Given the description of an element on the screen output the (x, y) to click on. 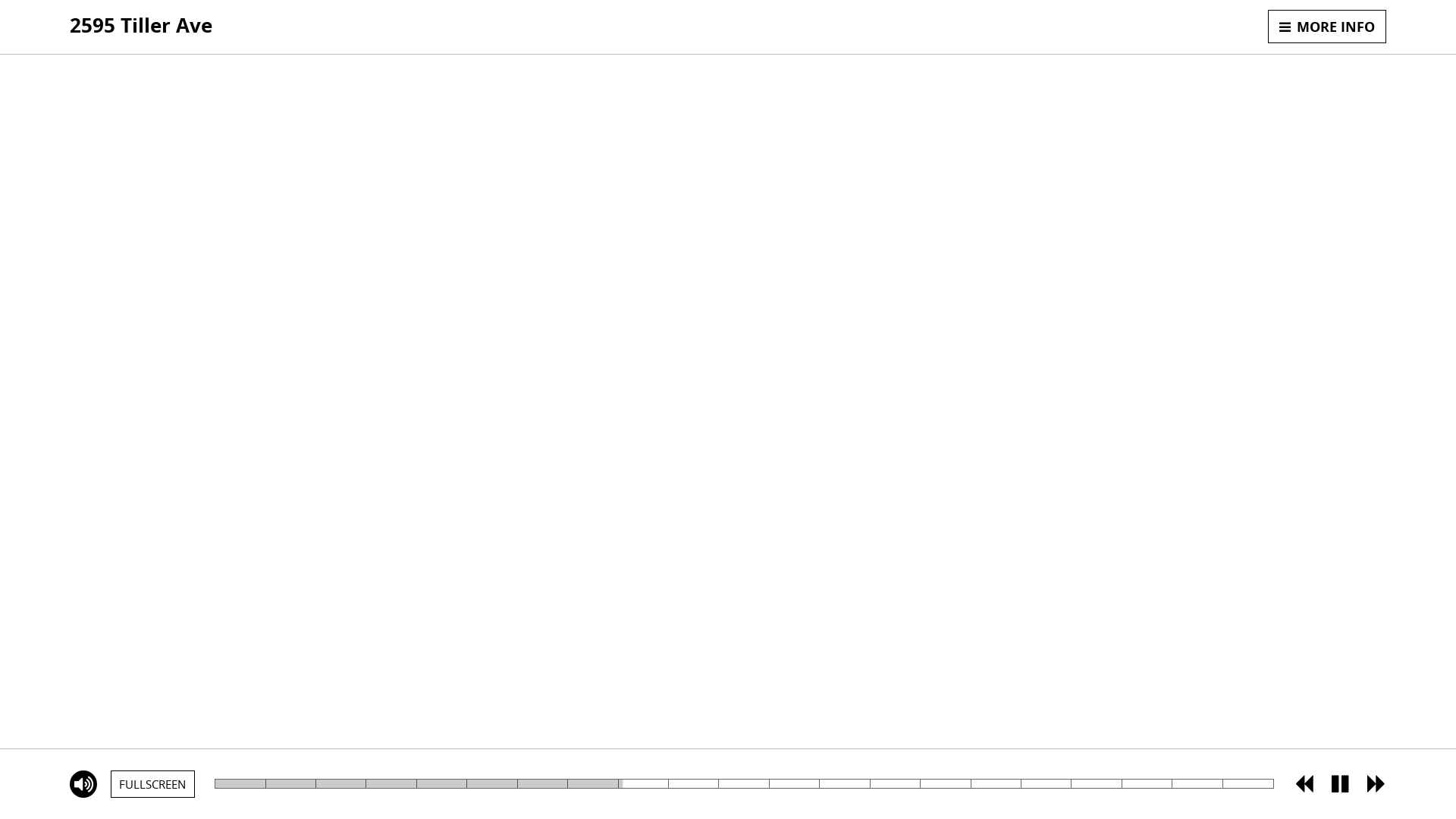
MORE INFO Element type: text (1326, 26)
